Given the description of an element on the screen output the (x, y) to click on. 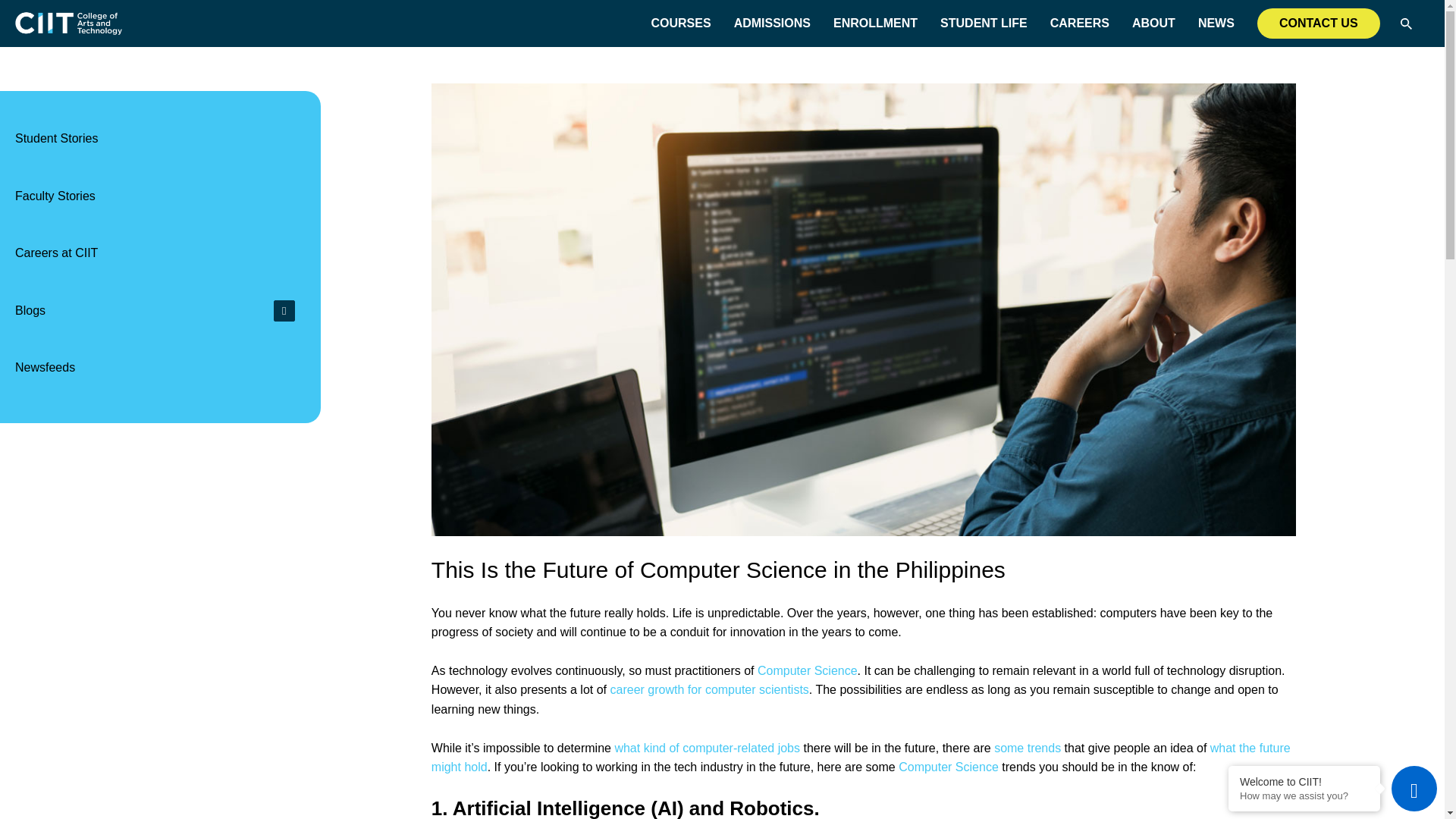
Welcome to CIIT! (1304, 781)
ENROLLMENT (874, 23)
COURSES (680, 23)
NEWS (1216, 23)
ABOUT (1153, 23)
CAREERS (1079, 23)
ADMISSIONS (771, 23)
CONTACT US (1318, 23)
STUDENT LIFE (983, 23)
How may we assist you? (1304, 795)
